Given the description of an element on the screen output the (x, y) to click on. 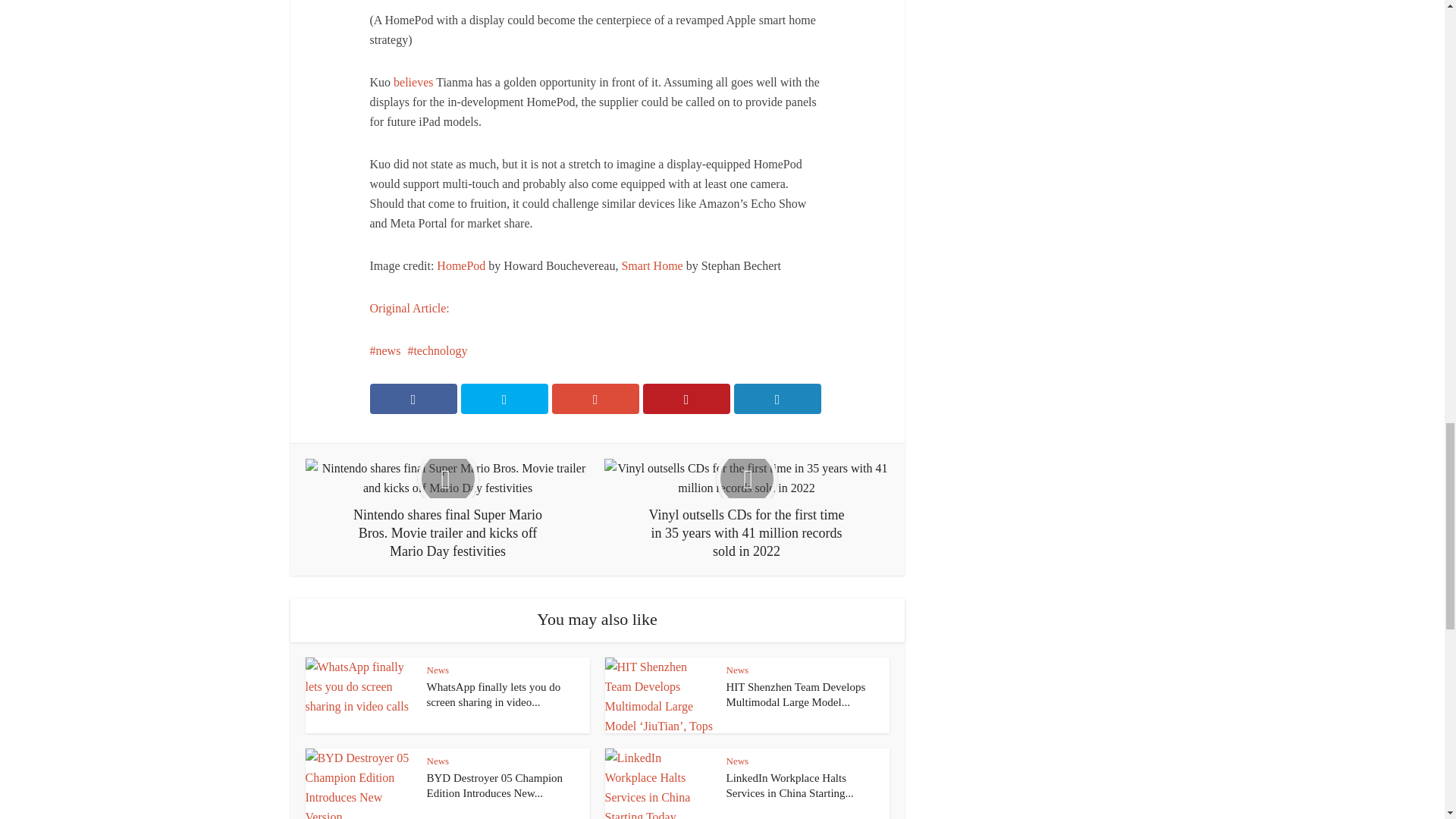
Original Article: (409, 308)
BYD Destroyer 05 Champion Edition Introduces New Version (494, 785)
HomePod (460, 265)
news (385, 350)
LinkedIn Workplace Halts Services in China Starting Today (789, 785)
technology (437, 350)
Smart Home (651, 265)
believes (412, 82)
WhatsApp finally lets you do screen sharing in video... (493, 694)
WhatsApp finally lets you do screen sharing in video calls (493, 694)
